Given the description of an element on the screen output the (x, y) to click on. 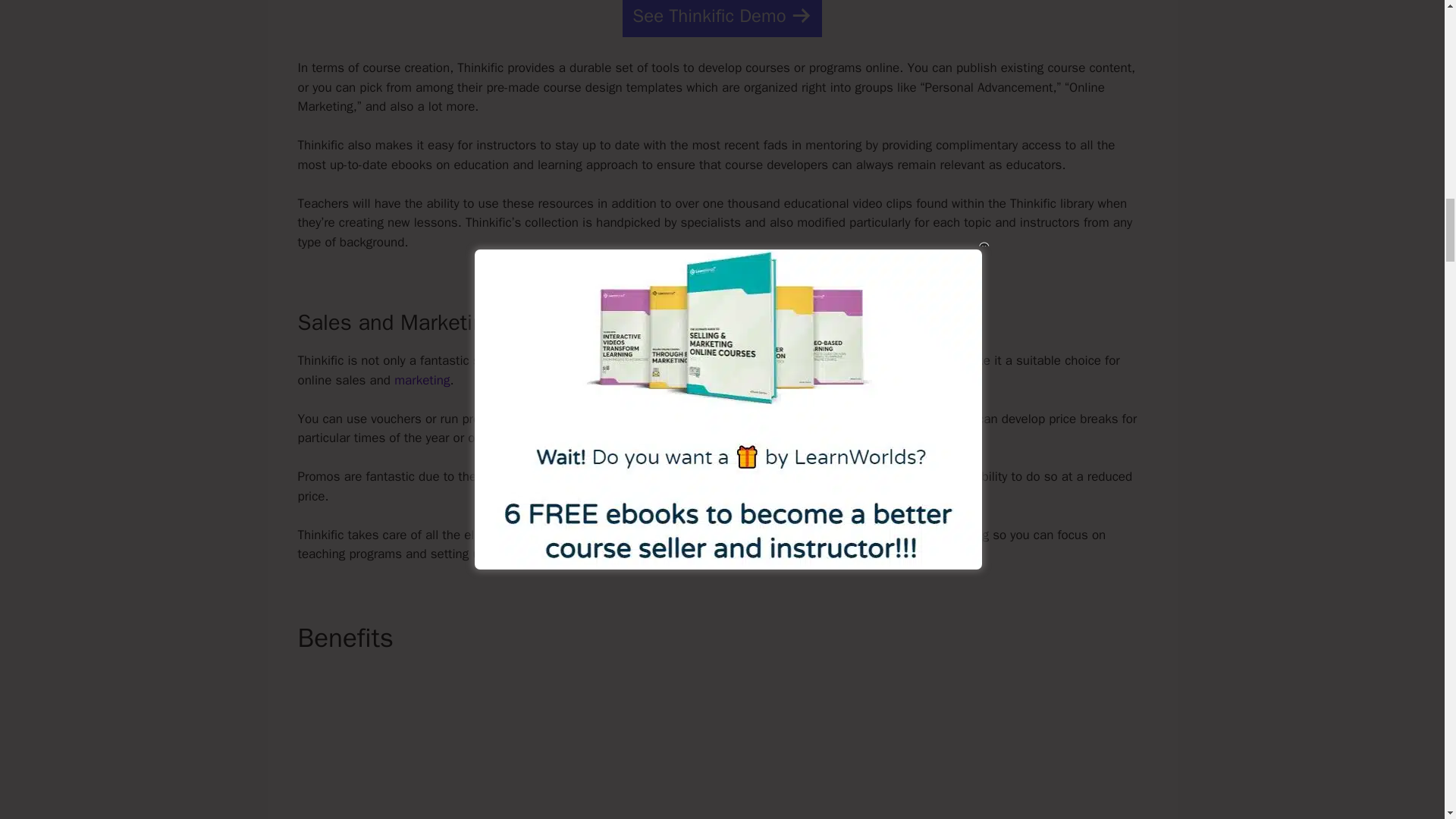
marketing (421, 380)
See Thinkific Demo (722, 18)
